Given the description of an element on the screen output the (x, y) to click on. 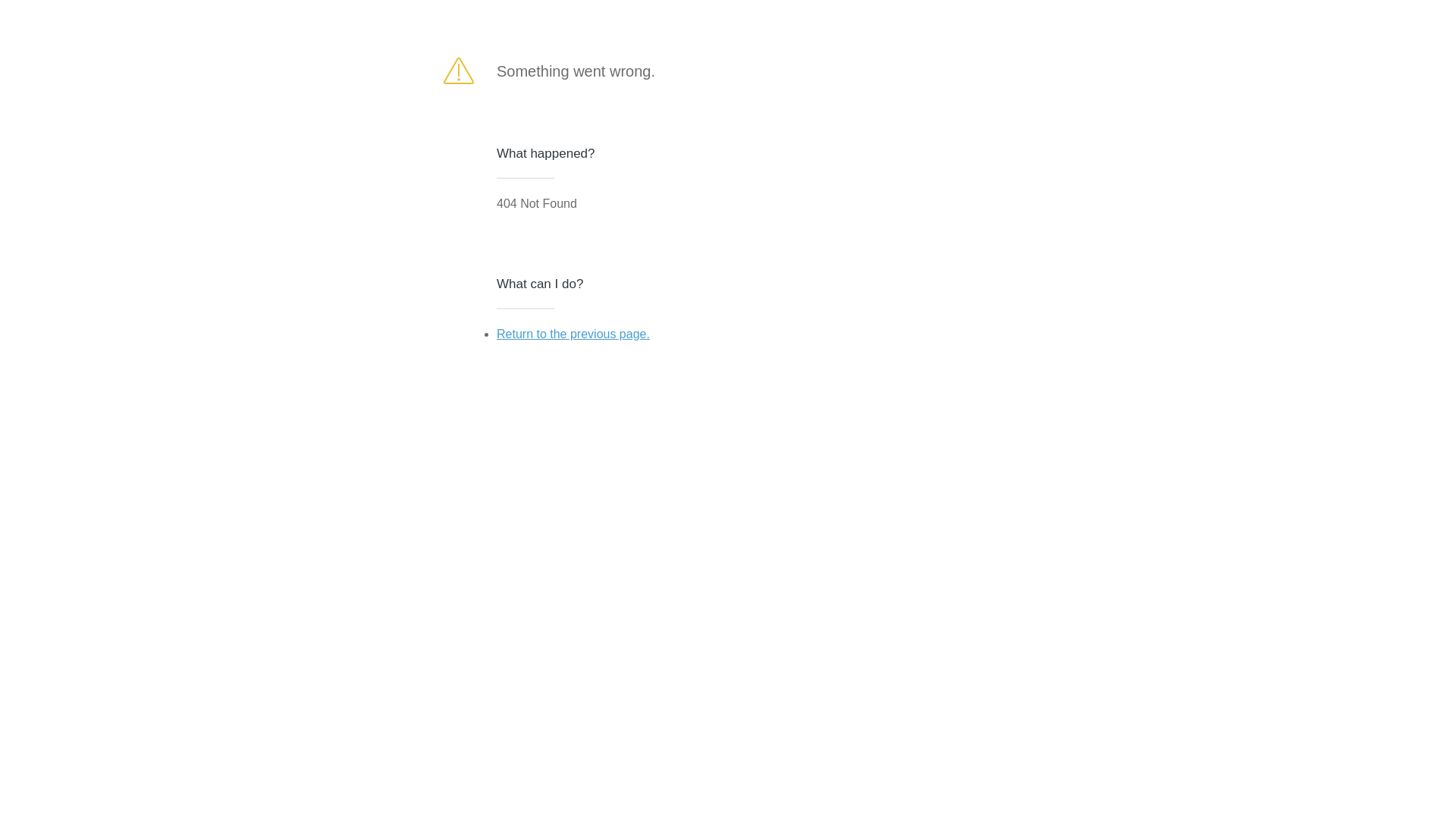
Return to the previous page. Element type: text (572, 333)
